Given the description of an element on the screen output the (x, y) to click on. 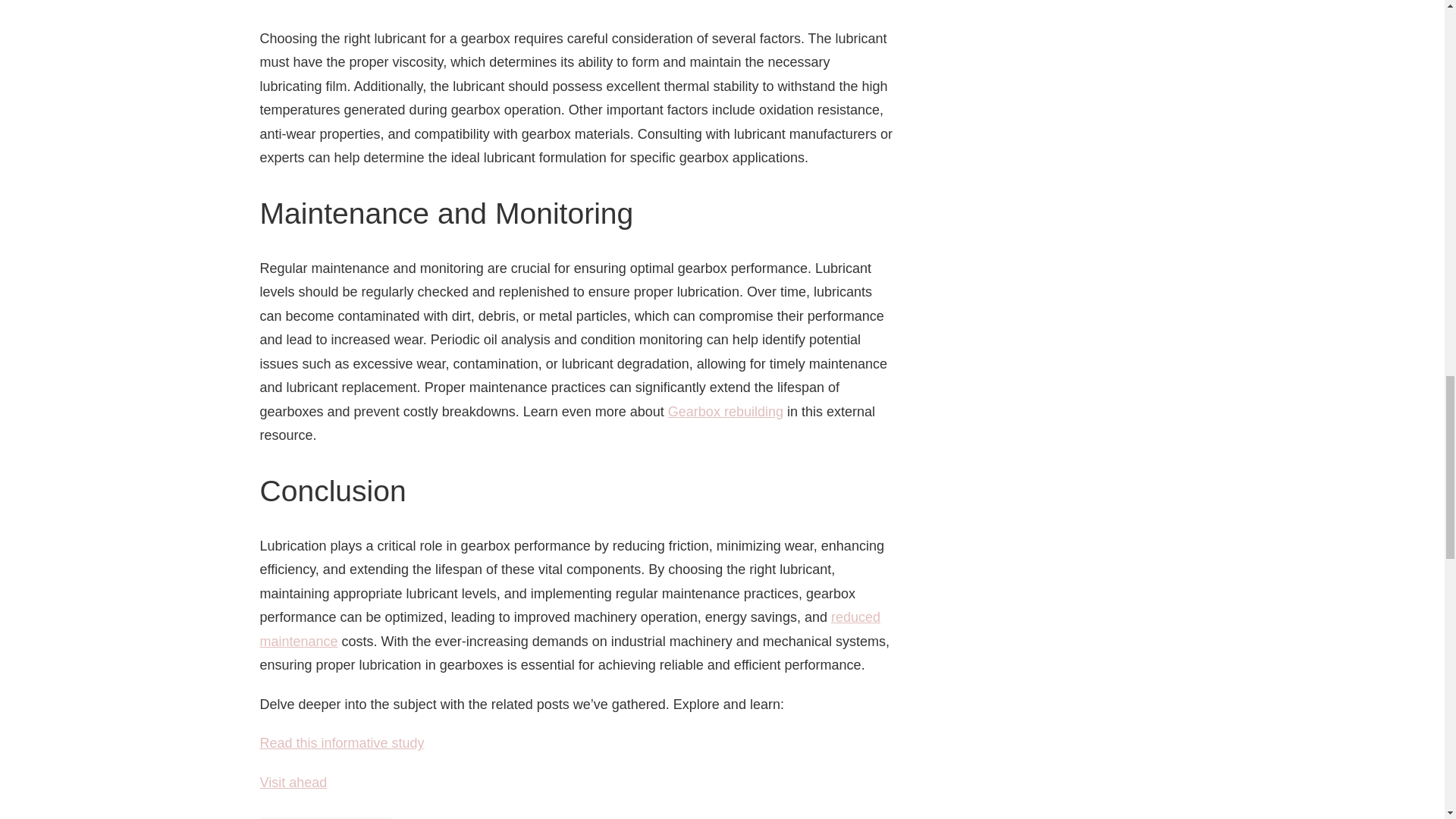
Read this informative study (341, 743)
reduced maintenance (569, 629)
Visit ahead (292, 782)
Gearbox rebuilding (725, 411)
